Given the description of an element on the screen output the (x, y) to click on. 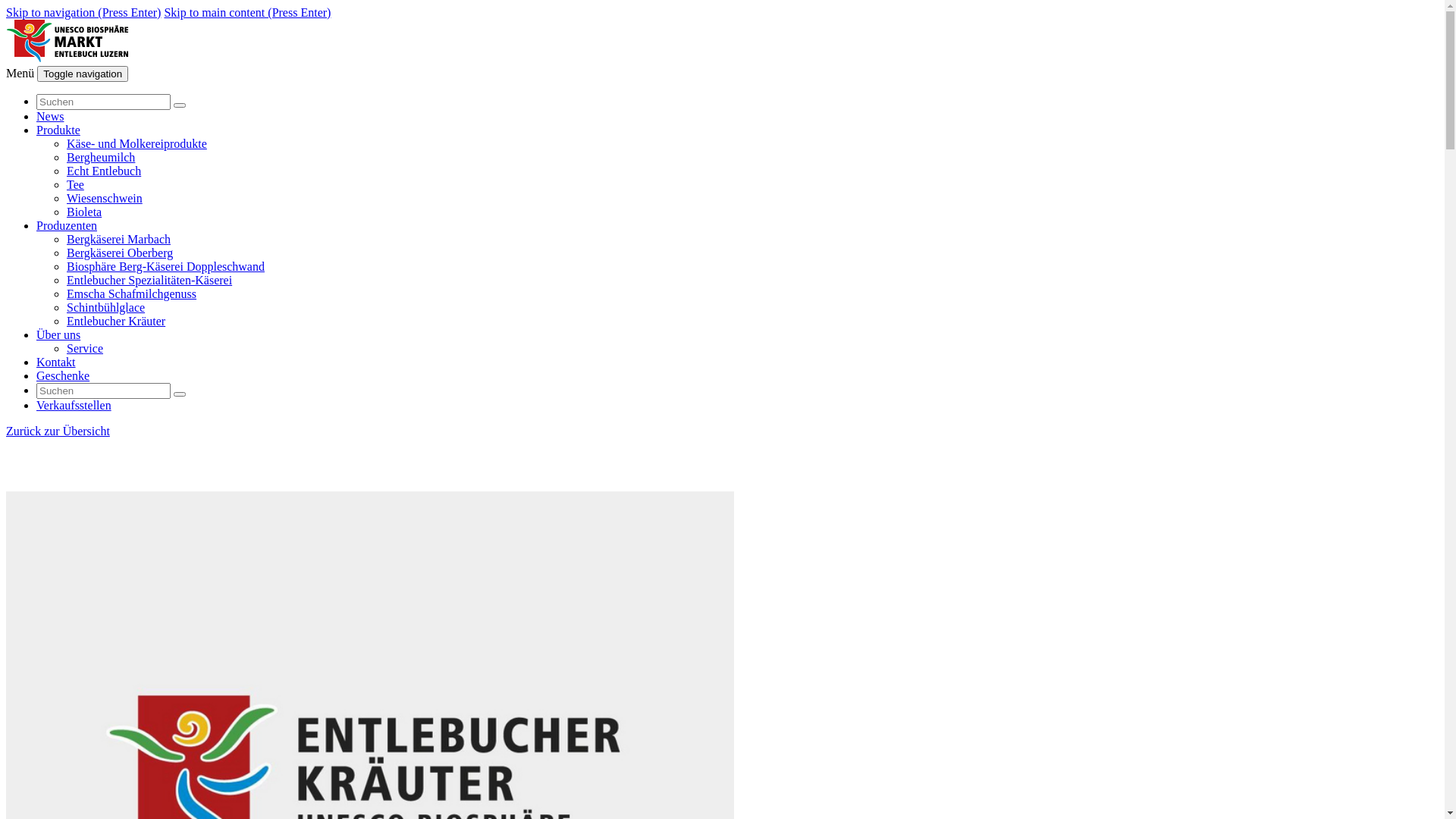
Startseite Element type: hover (67, 58)
Bergheumilch Element type: text (100, 156)
Skip to navigation (Press Enter) Element type: text (83, 12)
Echt Entlebuch Element type: text (103, 170)
Produzenten Element type: text (66, 225)
Suchen Element type: hover (179, 105)
News Element type: text (49, 115)
Geschenke Element type: text (62, 375)
Suchen Element type: hover (179, 394)
Produkte Element type: text (58, 129)
Bioleta Element type: text (83, 211)
Wiesenschwein Element type: text (104, 197)
Service Element type: text (84, 348)
Tee Element type: text (75, 184)
Verkaufsstellen Element type: text (73, 404)
Kontakt Element type: text (55, 361)
Emscha Schafmilchgenuss Element type: text (131, 293)
Toggle navigation Element type: text (82, 73)
Skip to main content (Press Enter) Element type: text (246, 12)
